Given the description of an element on the screen output the (x, y) to click on. 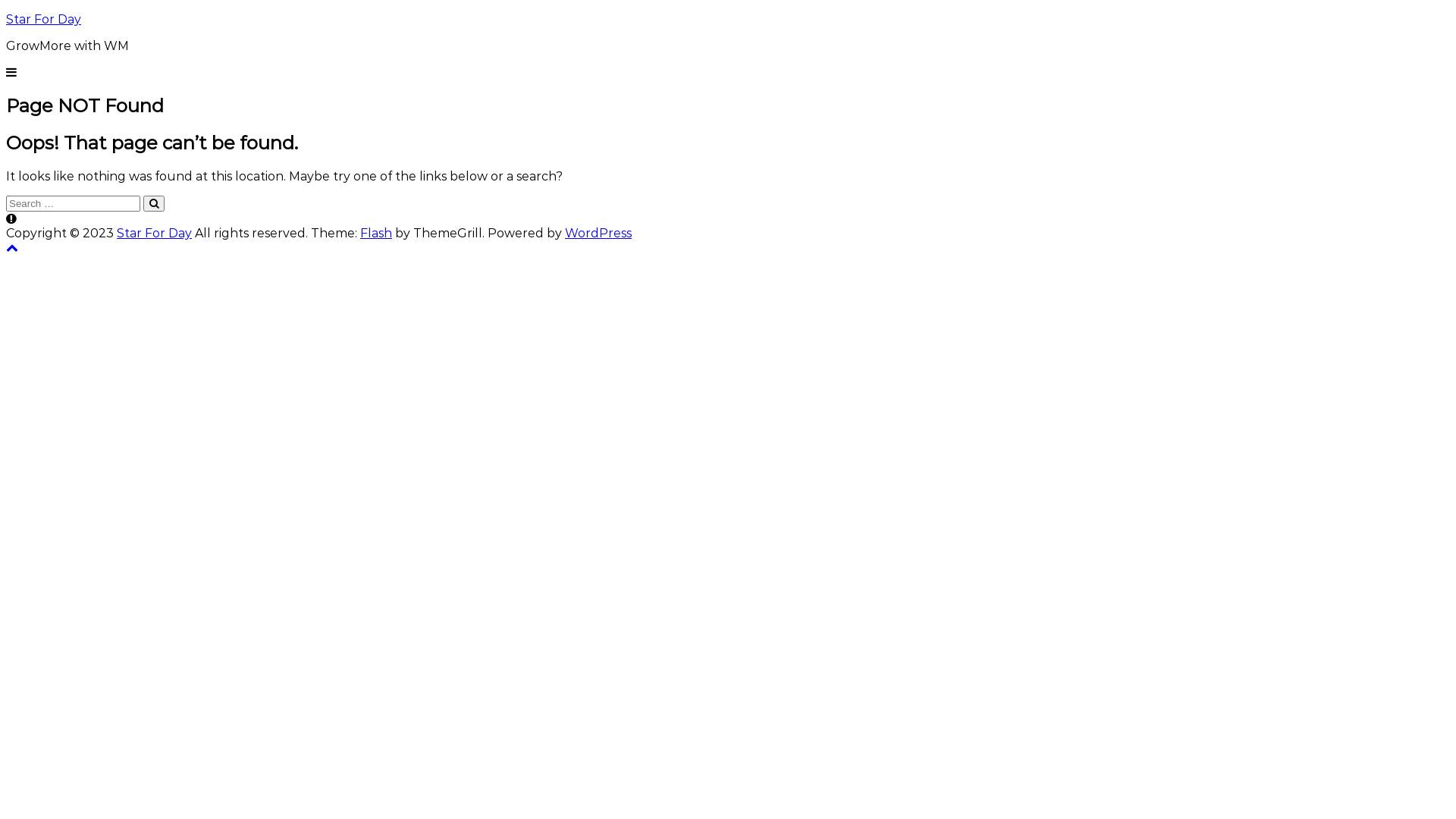
Star For Day Element type: text (43, 19)
Flash Element type: text (376, 232)
WordPress Element type: text (597, 232)
Skip to content Element type: text (5, 11)
Search Element type: text (153, 203)
Star For Day Element type: text (153, 232)
